Given the description of an element on the screen output the (x, y) to click on. 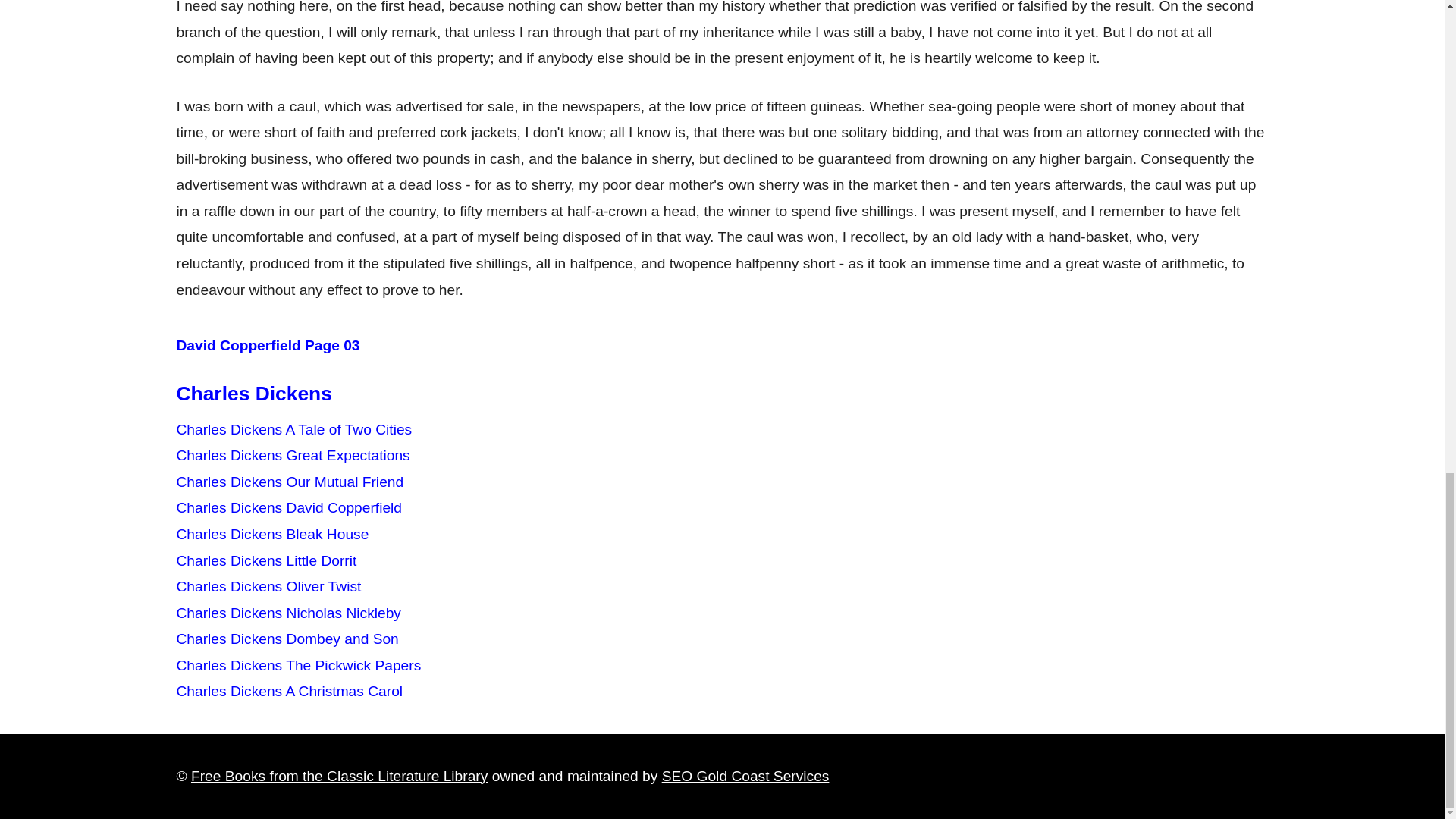
Charles Dickens A Tale of Two Cities (294, 429)
Charles Dickens Our Mutual Friend (289, 481)
Free Books from the Classic Literature Library (338, 775)
Charles Dickens Great Expectations (292, 455)
Charles Dickens A Christmas Carol (289, 691)
Charles Dickens Dombey and Son (286, 638)
Charles Dickens Oliver Twist (268, 586)
Charles Dickens Bleak House (272, 534)
SEO Gold Coast Services (745, 775)
Charles Dickens Nicholas Nickleby (288, 612)
